Given the description of an element on the screen output the (x, y) to click on. 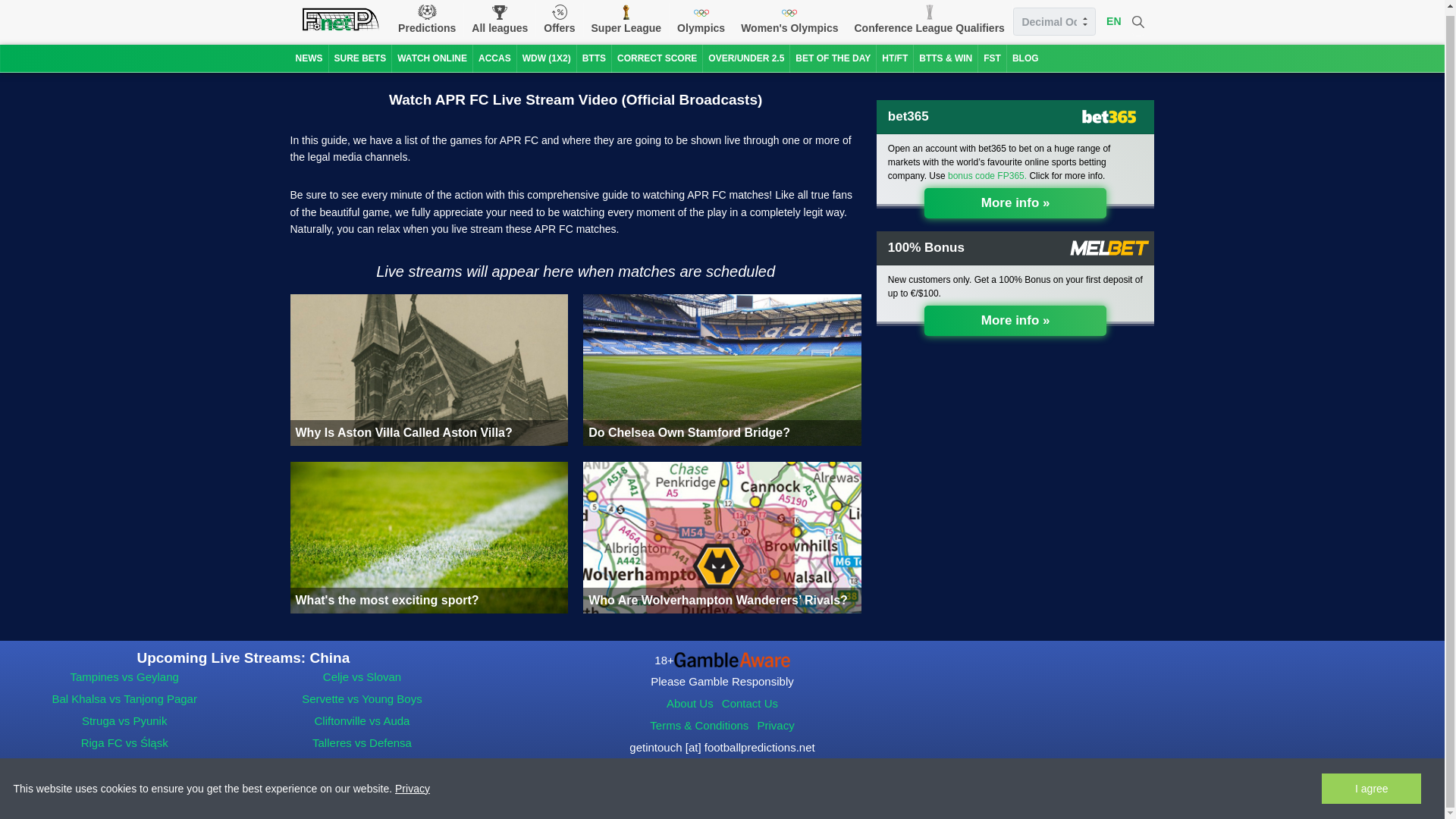
Why Is Aston Villa Called Aston Villa? (428, 369)
Offers (558, 19)
Predictions (426, 19)
All leagues (499, 19)
EN (1113, 21)
BLOG (1025, 58)
Super League (626, 19)
BTTS (593, 58)
What's the most exciting sport? (428, 536)
Women's Olympics (789, 19)
FST (992, 58)
SURE BETS (360, 58)
Do Chelsea Own Stamford Bridge? (722, 369)
NEWS (308, 58)
Olympics (700, 19)
